Given the description of an element on the screen output the (x, y) to click on. 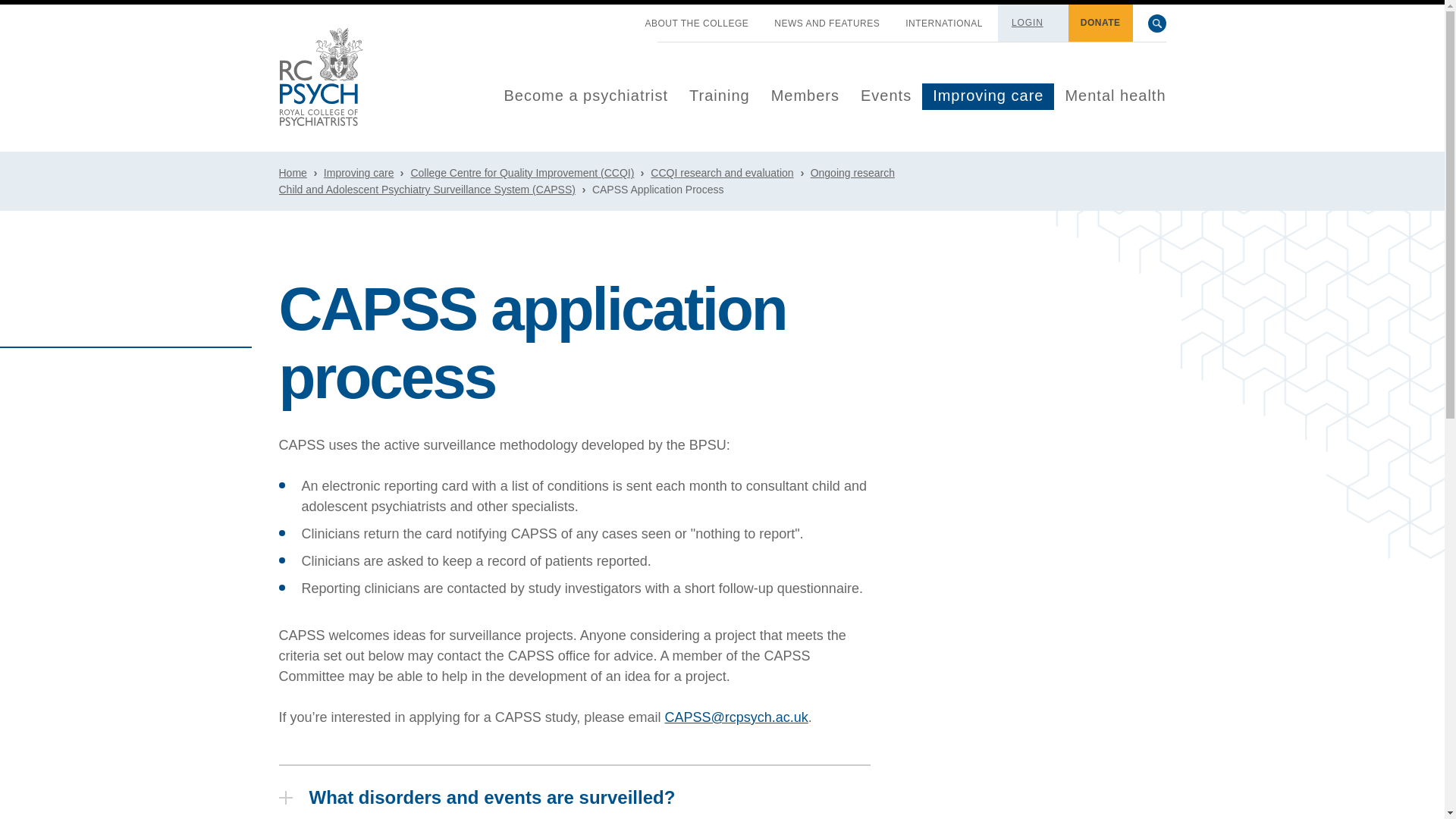
Search (1157, 23)
Become a psychiatrist (585, 96)
DONATE (1100, 22)
LOGIN (1027, 22)
INTERNATIONAL (944, 23)
ABOUT THE COLLEGE (697, 23)
SKIP NAVIGATION (619, 17)
NEWS AND FEATURES (826, 23)
